Given the description of an element on the screen output the (x, y) to click on. 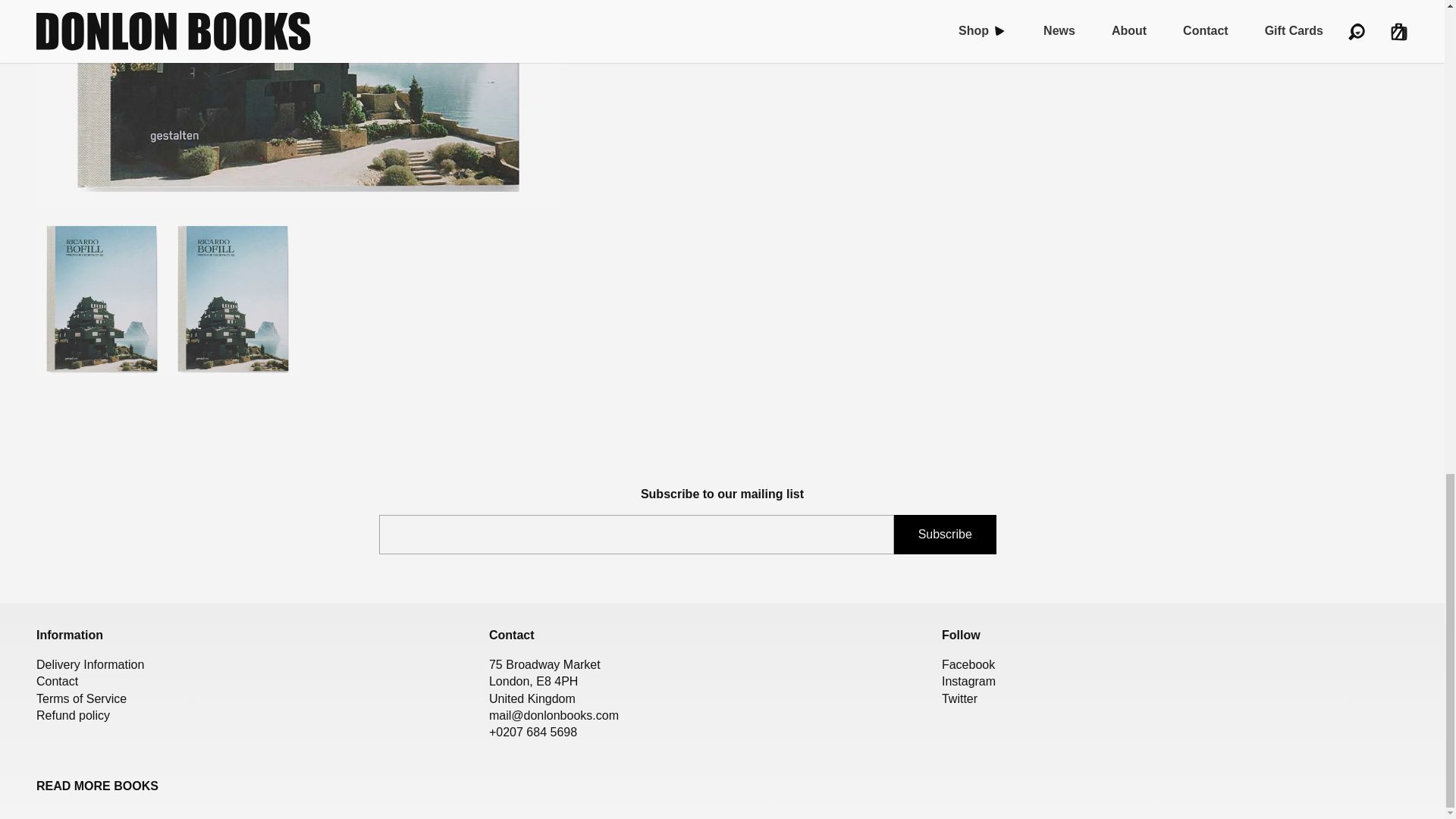
Terms of Service (81, 698)
Refund policy (73, 715)
Subscribe (944, 534)
Subscribe (944, 534)
Delivery Information (90, 664)
Contact (57, 680)
